Given the description of an element on the screen output the (x, y) to click on. 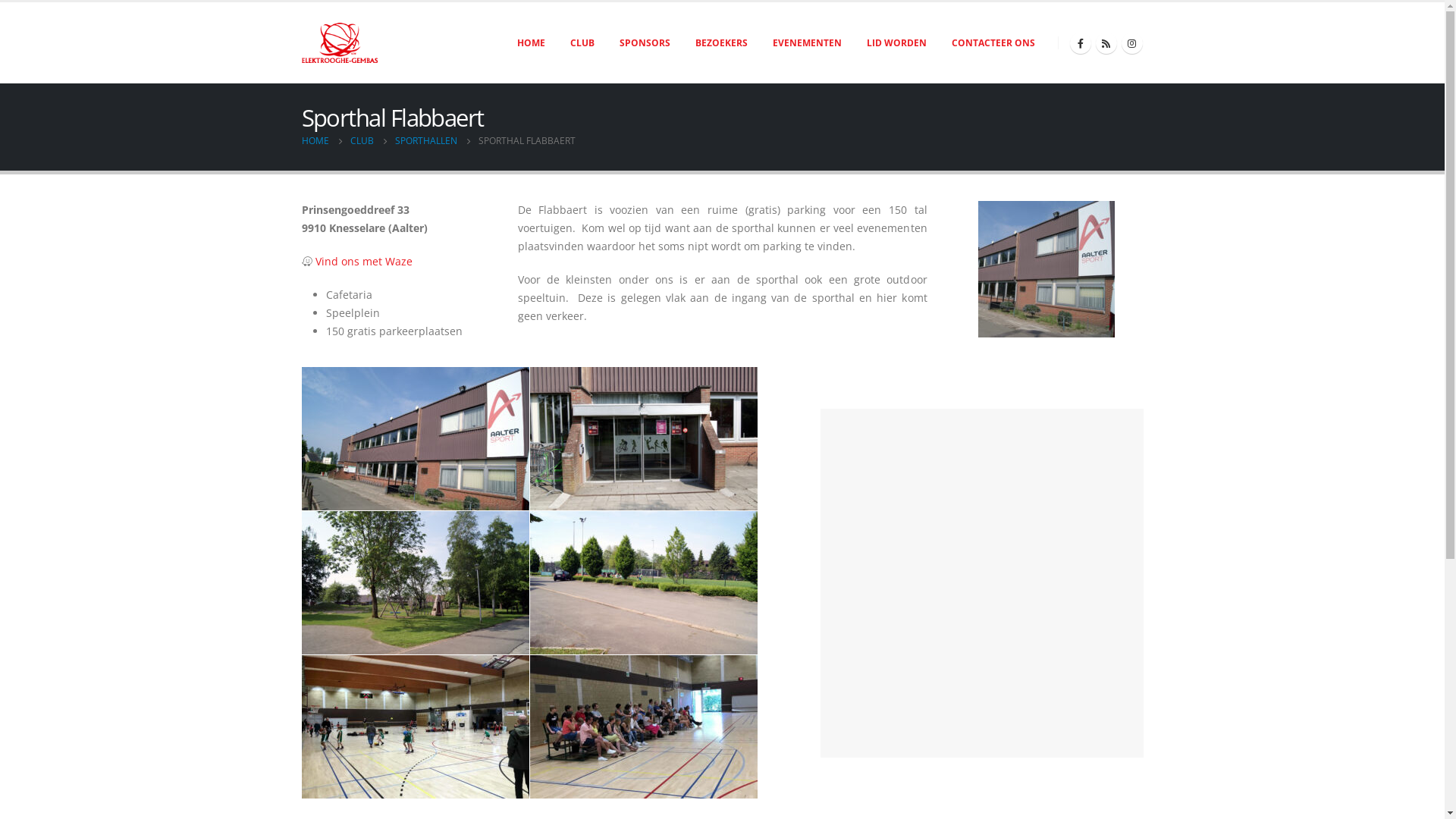
Sporthal Flabbaert - Parking Element type: hover (642, 582)
CLUB Element type: text (361, 140)
Vind ons met Waze Element type: text (363, 261)
Facebook Element type: hover (1079, 42)
BEZOEKERS Element type: text (720, 43)
Sporthal Flabbaert - Inkom Element type: hover (642, 438)
Sporthal Flabbaert - Tribune Element type: hover (642, 726)
Sporthal Flabbaert - Speelplein Element type: hover (415, 582)
HOME Element type: text (531, 43)
Sporthal Flabbaert Element type: hover (415, 726)
Sporthal Flabbaert Element type: hover (1046, 268)
LID WORDEN Element type: text (895, 43)
Instagram Element type: hover (1131, 42)
HOME Element type: text (315, 140)
SPONSORS Element type: text (643, 43)
RSS Element type: hover (1105, 42)
CONTACTEER ONS Element type: text (992, 43)
EVENEMENTEN Element type: text (806, 43)
CLUB Element type: text (582, 43)
SPORTHALLEN Element type: text (425, 140)
Sporthal Flabbaert Element type: hover (415, 438)
